Given the description of an element on the screen output the (x, y) to click on. 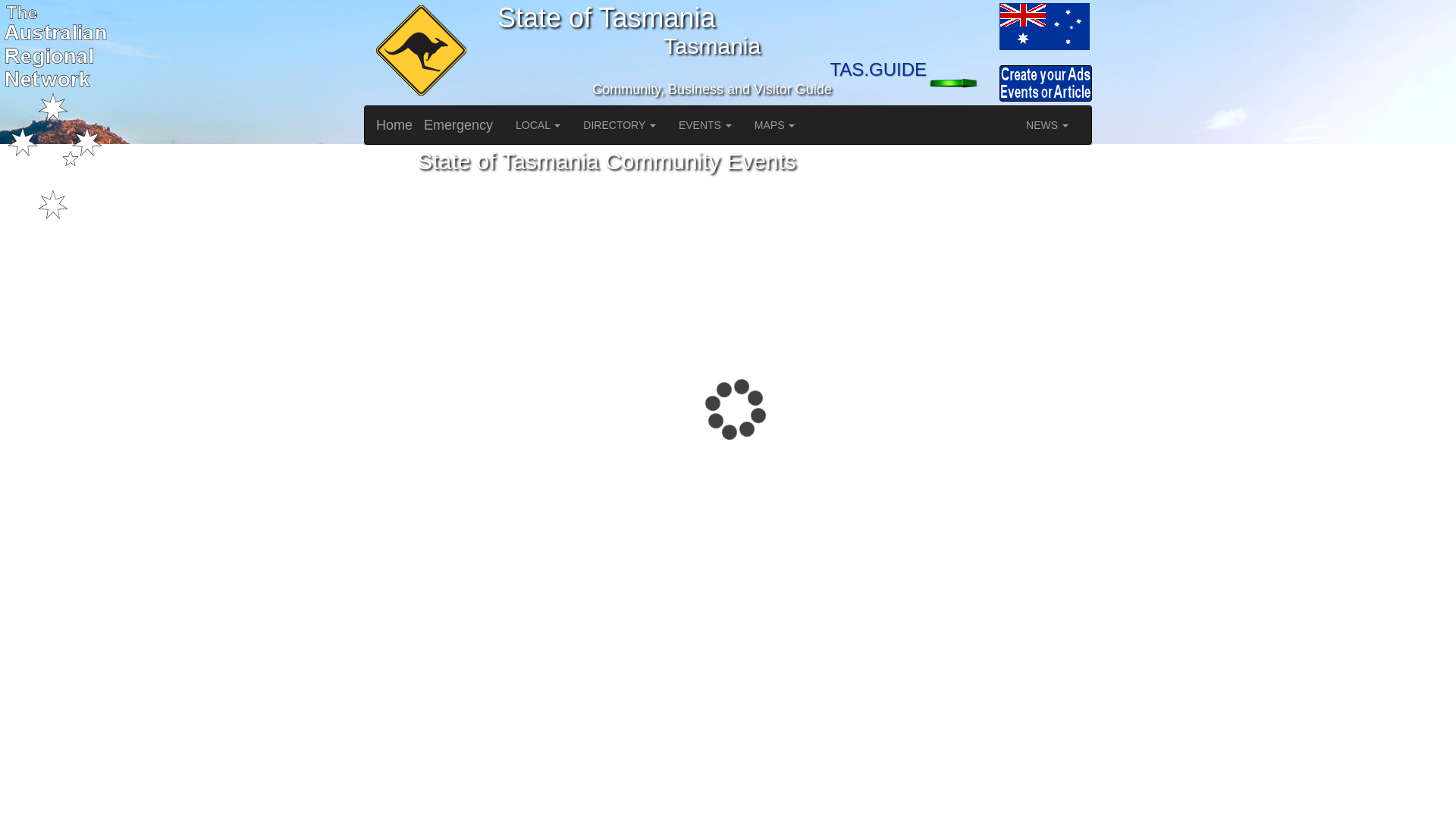
Emergency (457, 125)
LOCAL (537, 125)
State of Tasmania Skippycoin ICG (419, 52)
DIRECTORY (619, 125)
Home (394, 125)
State of Tasmania Australia (1043, 26)
Login to tas.guide (962, 83)
Australia (962, 26)
